Given the description of an element on the screen output the (x, y) to click on. 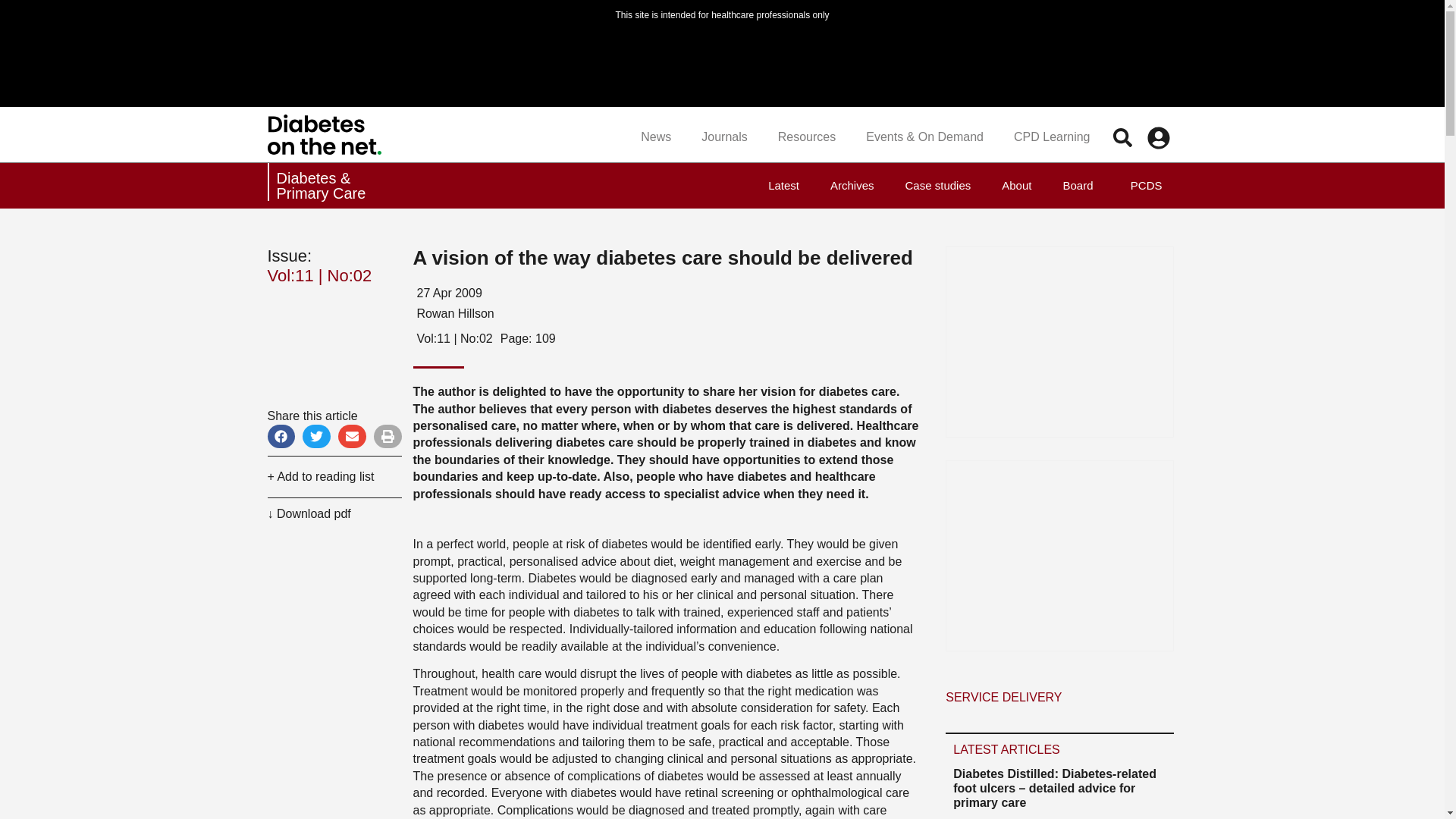
Archives (852, 185)
Latest (782, 185)
Journals (723, 136)
Case studies (938, 185)
Board (1077, 185)
About (1016, 185)
Resources (806, 136)
News (655, 136)
3rd party ad content (1059, 341)
  PCDS (1142, 185)
